Given the description of an element on the screen output the (x, y) to click on. 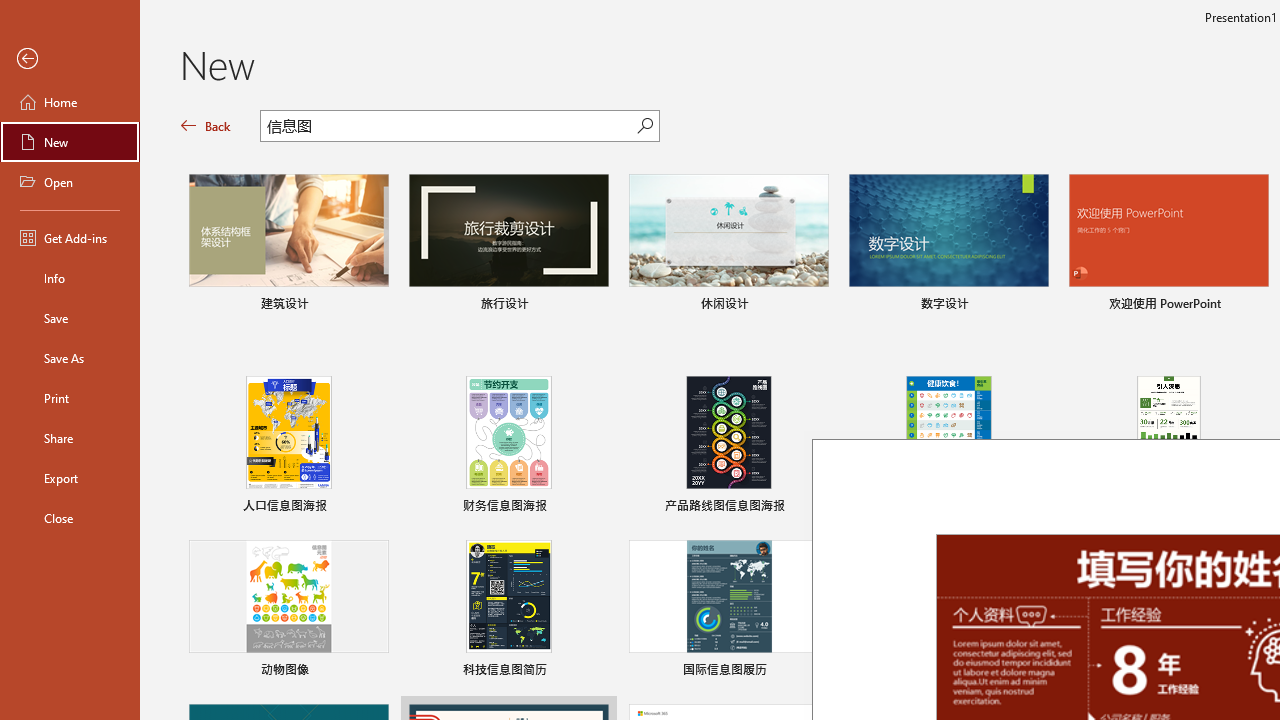
Back (69, 59)
Export (69, 477)
Back (205, 125)
Get Add-ins (69, 237)
Search for online templates and themes (449, 128)
